Given the description of an element on the screen output the (x, y) to click on. 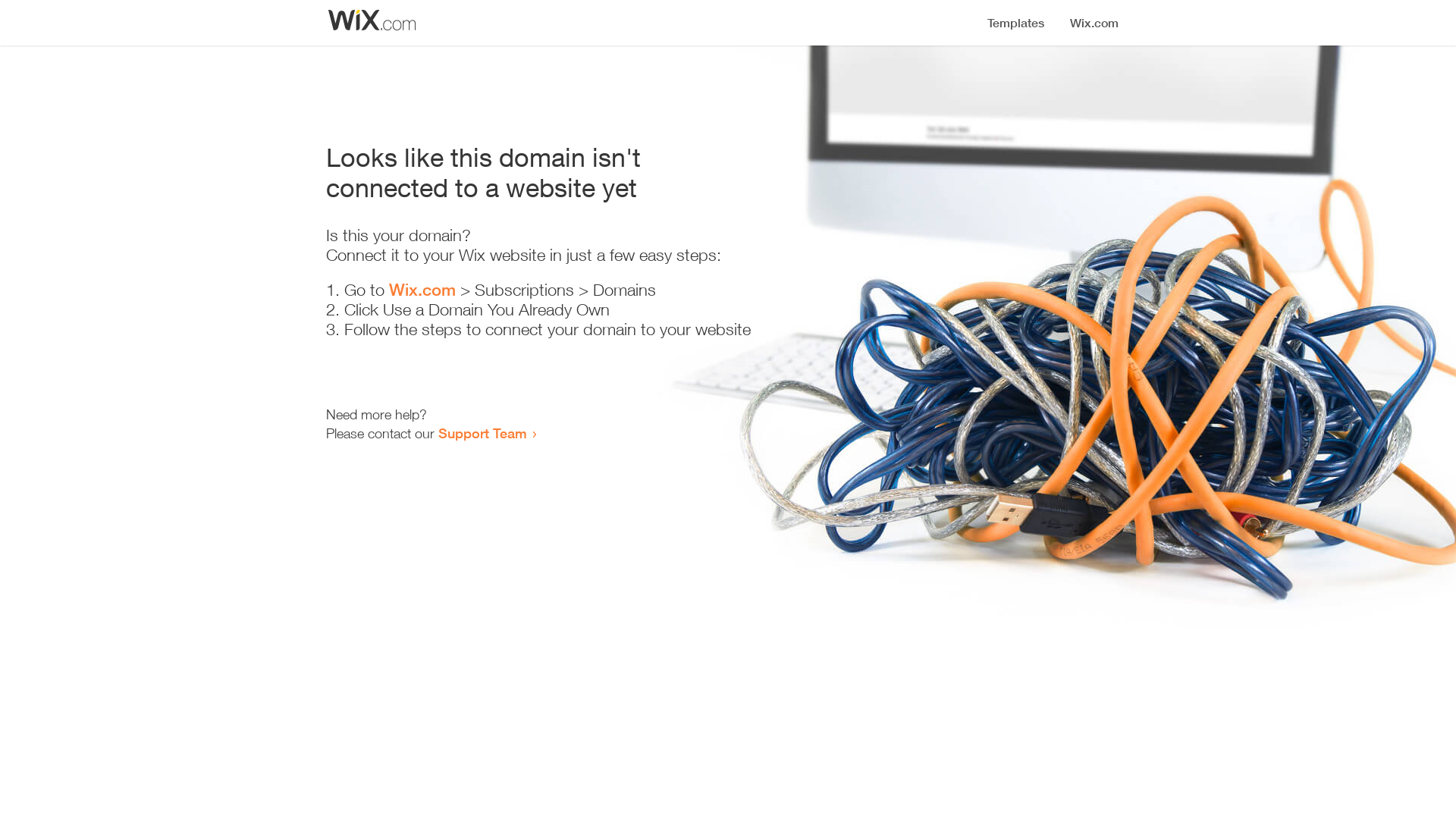
Wix.com Element type: text (422, 289)
Support Team Element type: text (482, 432)
